Given the description of an element on the screen output the (x, y) to click on. 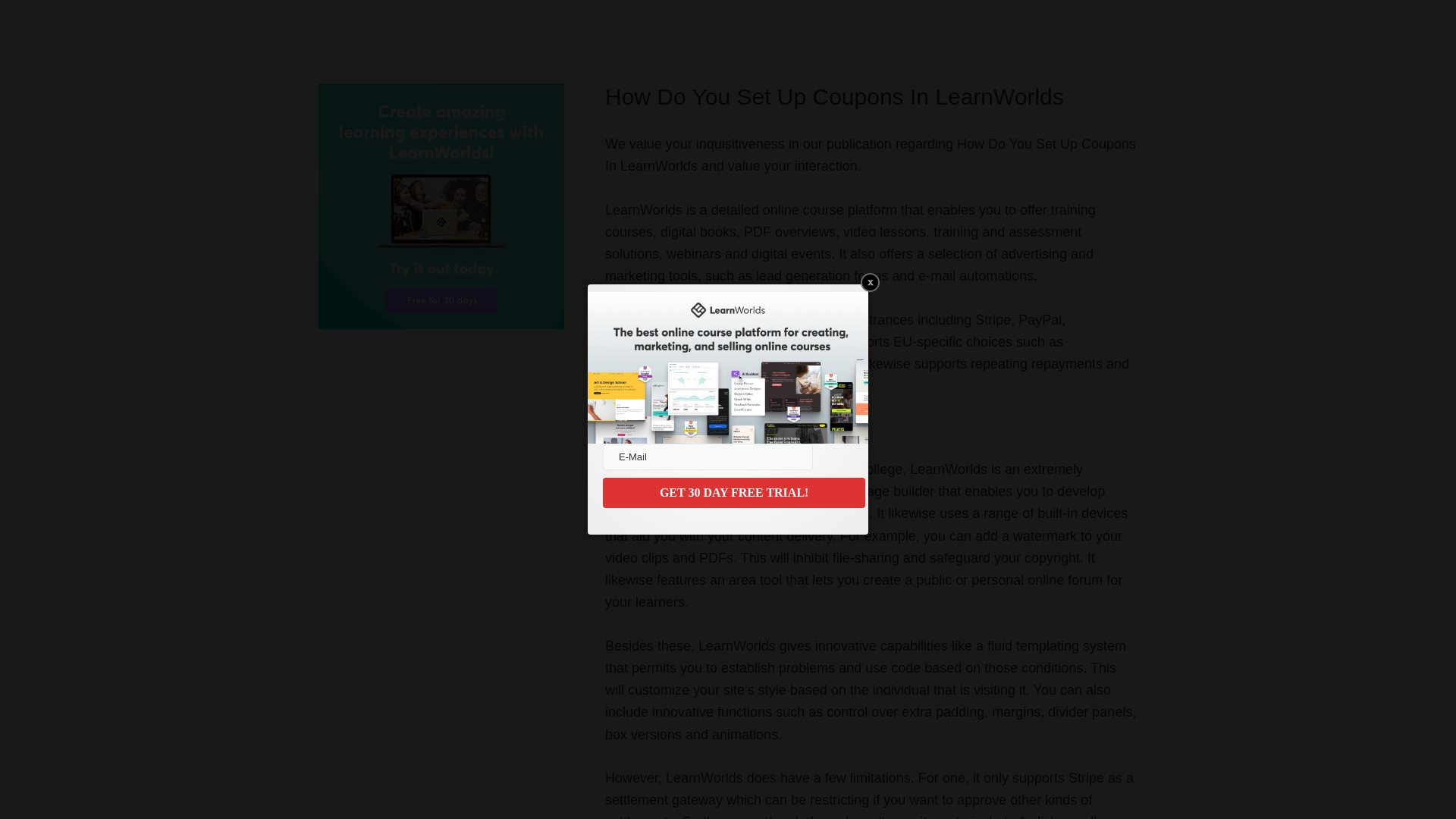
GET 30 DAY FREE TRIAL! (733, 492)
GET 30 DAY FREE TRIAL! (733, 492)
